Given the description of an element on the screen output the (x, y) to click on. 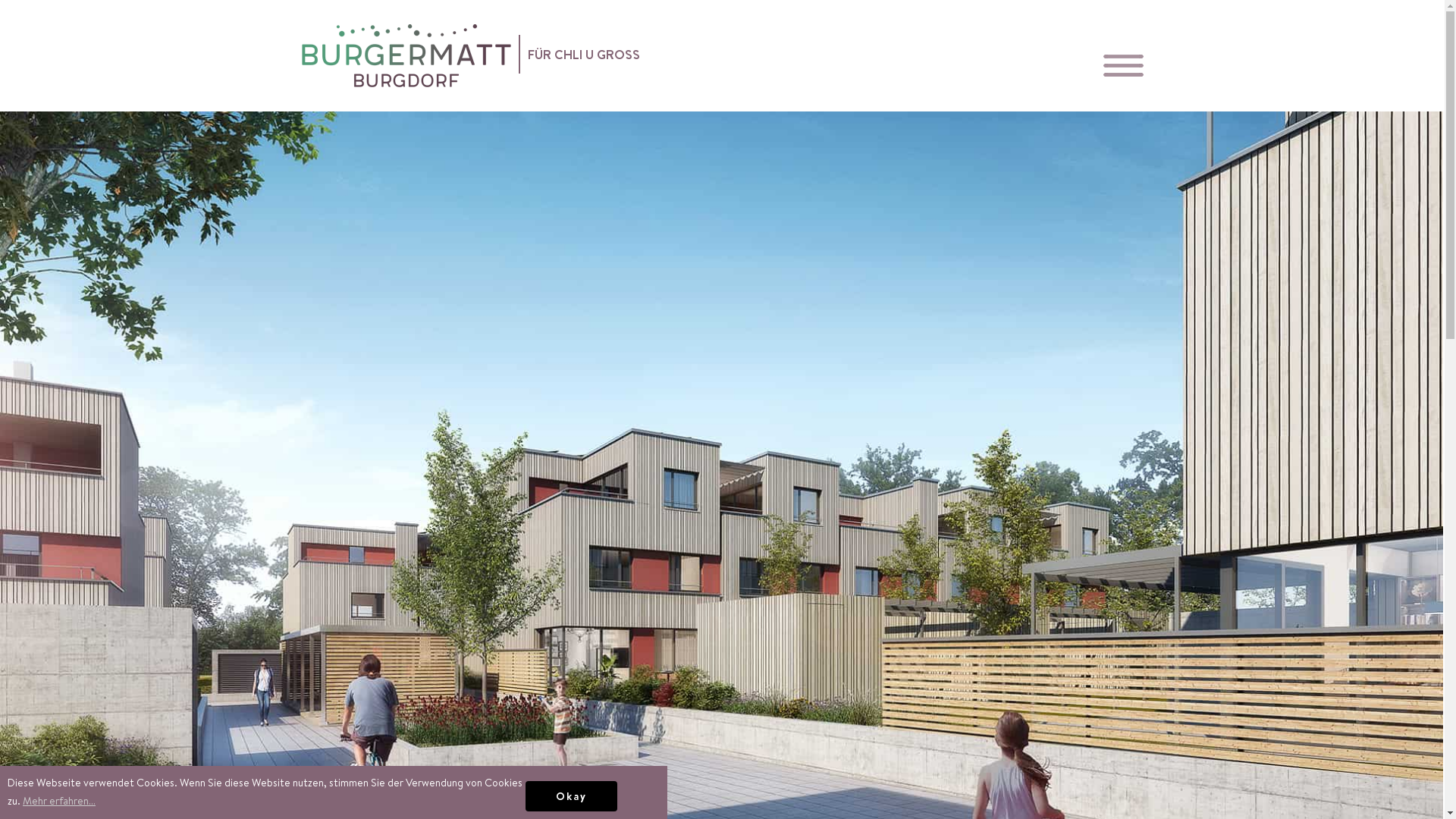
Okay Element type: text (571, 796)
